Given the description of an element on the screen output the (x, y) to click on. 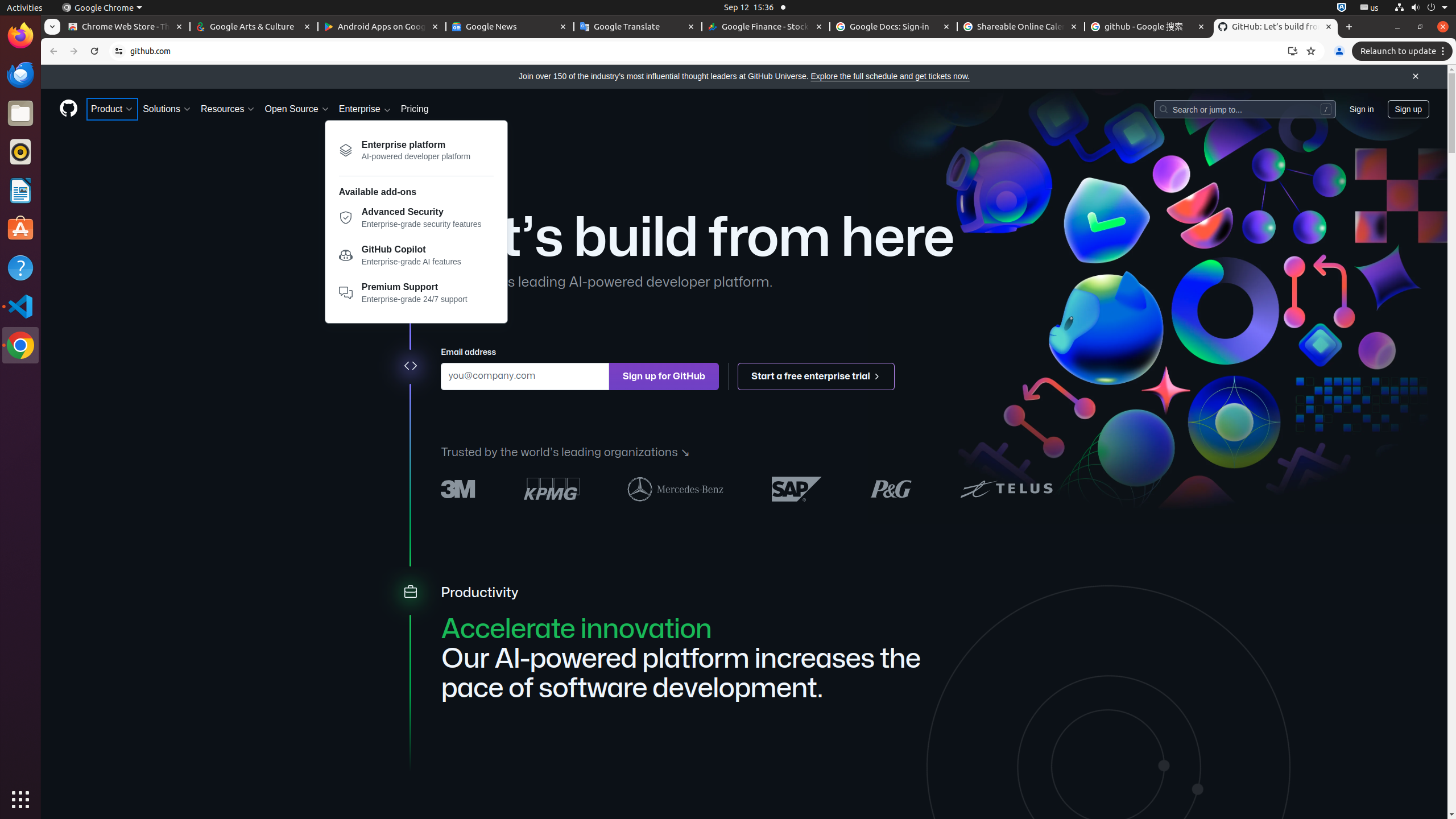
Reload Element type: push-button (94, 50)
Resources Element type: push-button (227, 108)
Forward Element type: push-button (73, 50)
Open Source Element type: push-button (296, 108)
Pricing Element type: link (414, 108)
